Given the description of an element on the screen output the (x, y) to click on. 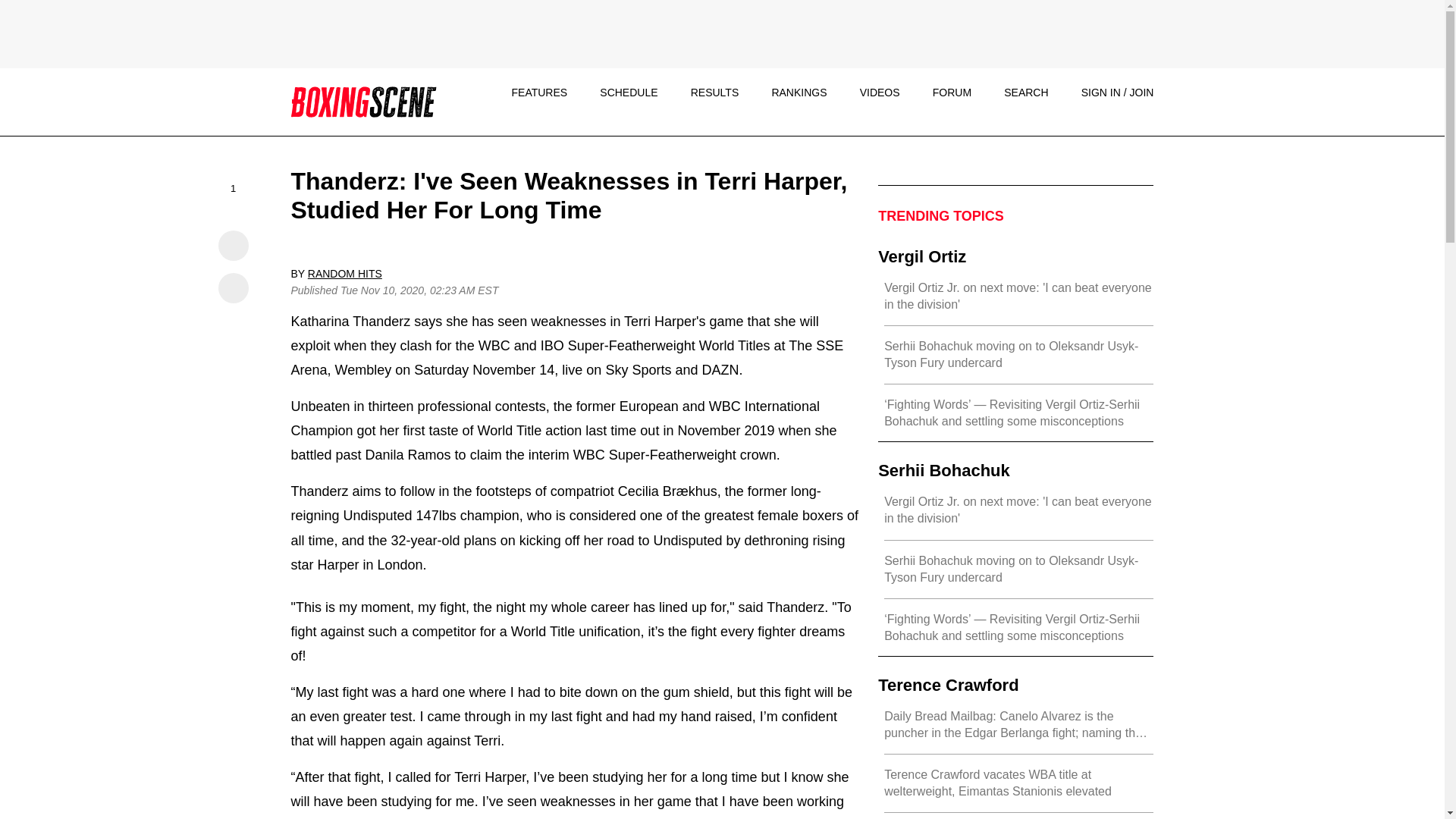
RANDOM HITS (344, 273)
SEARCH (1026, 92)
1 (233, 191)
FORUM (952, 92)
FEATURES (539, 92)
RESULTS (714, 92)
SCHEDULE (628, 92)
RANKINGS (799, 92)
VIDEOS (879, 92)
